Given the description of an element on the screen output the (x, y) to click on. 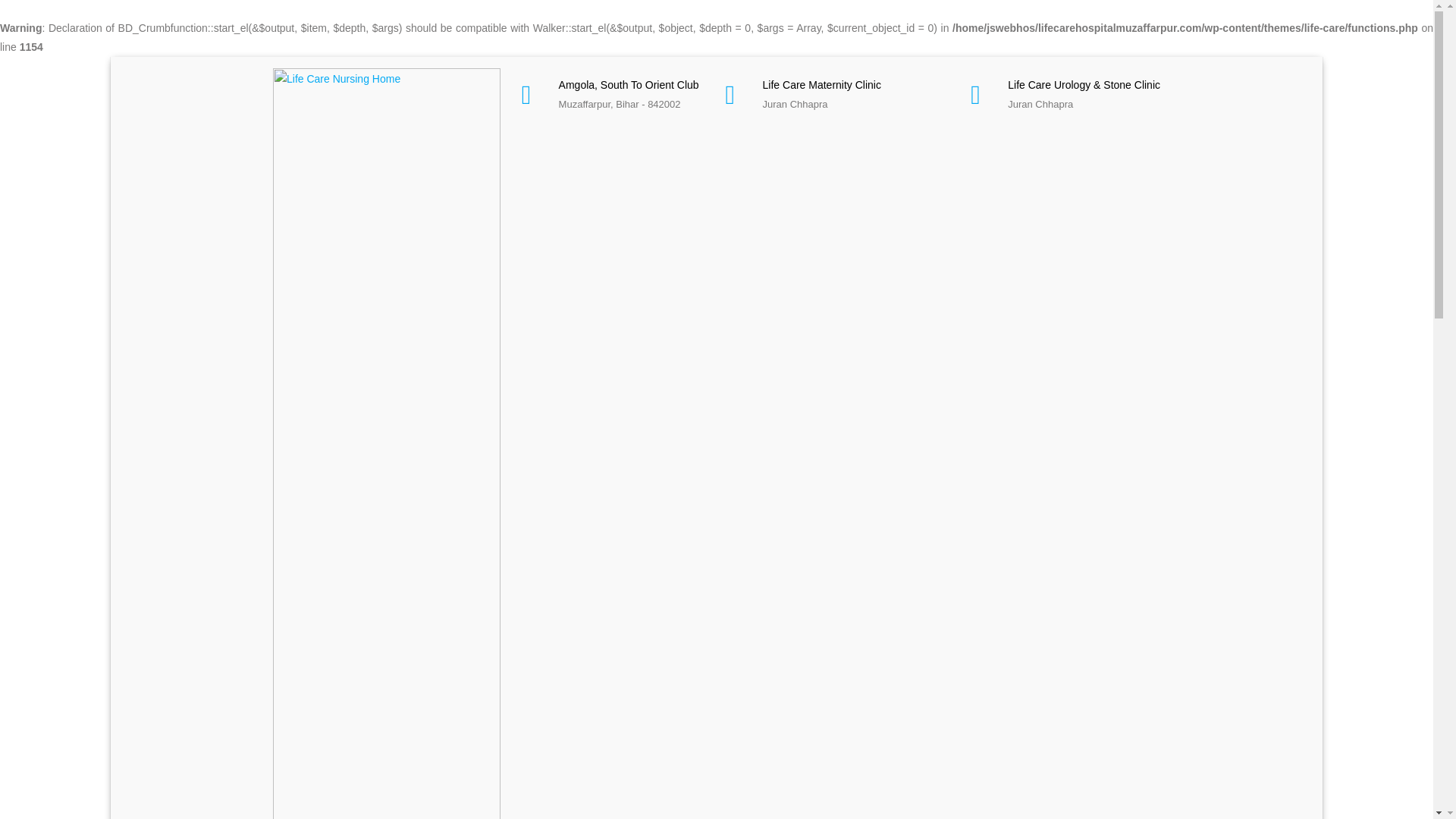
Life Care Nursing Home (386, 476)
